Given the description of an element on the screen output the (x, y) to click on. 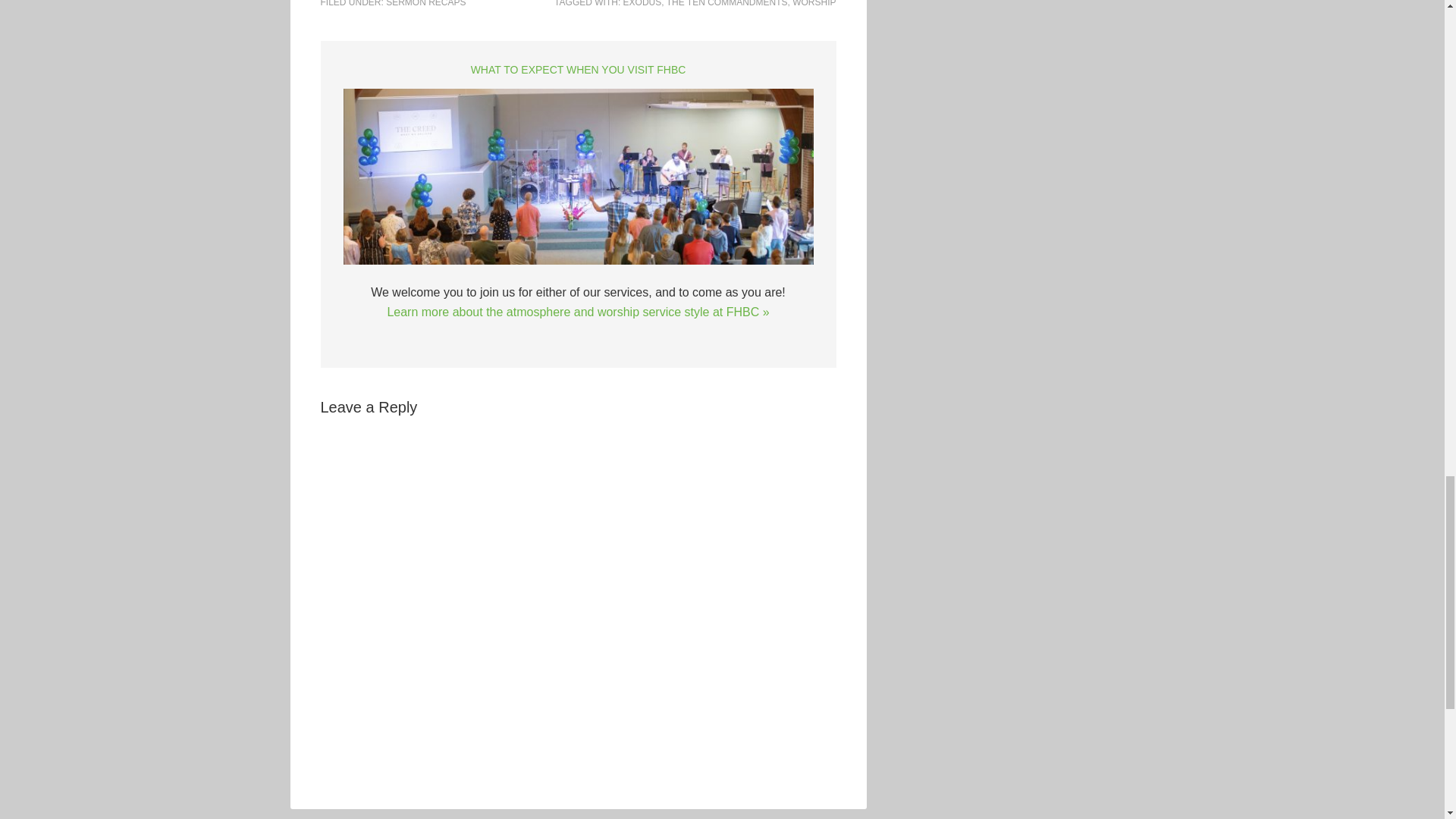
New Here? (577, 179)
SERMON RECAPS (425, 3)
WORSHIP (813, 3)
EXODUS (642, 3)
THE TEN COMMANDMENTS (726, 3)
